Given the description of an element on the screen output the (x, y) to click on. 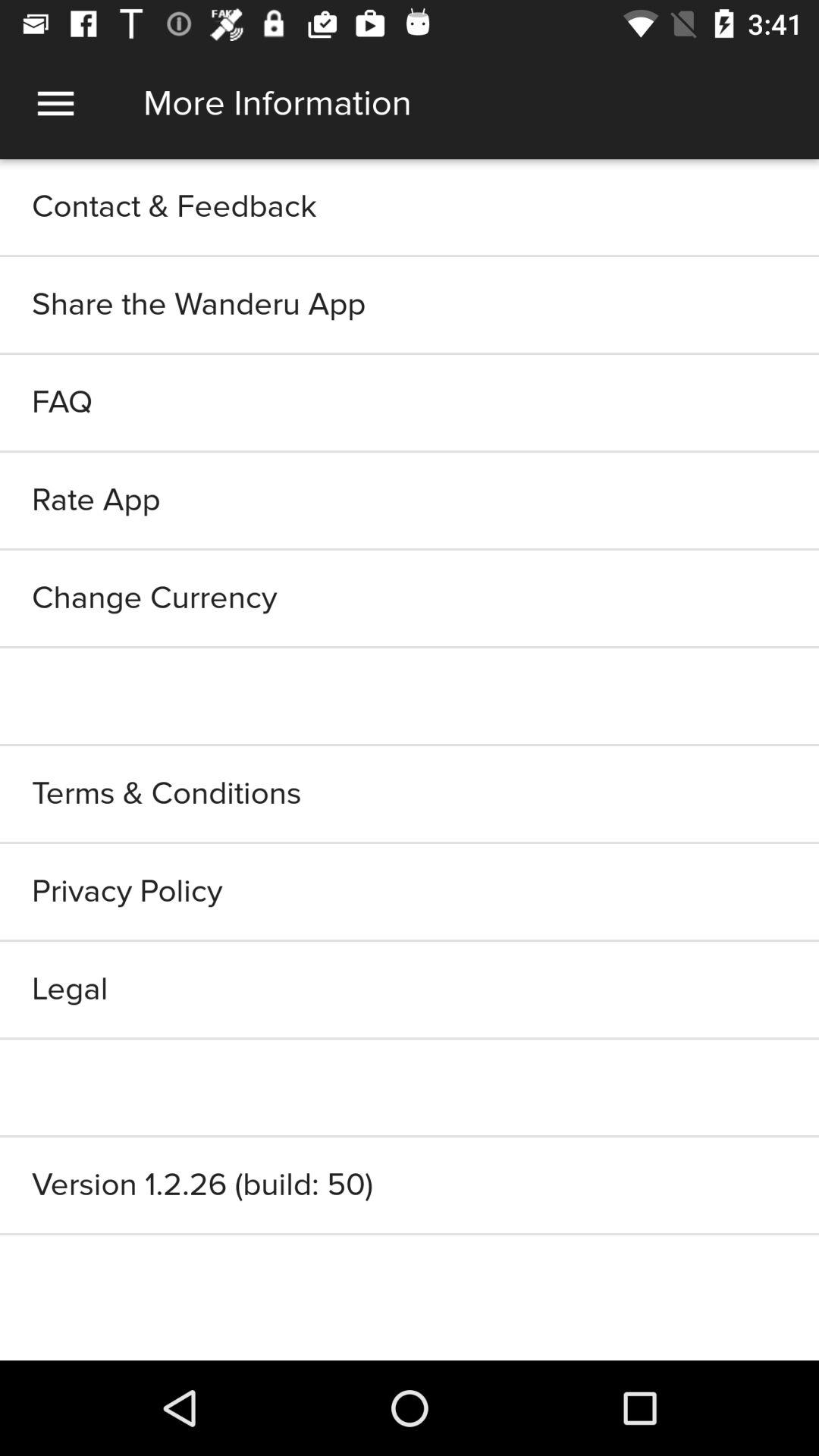
press the icon above privacy policy (409, 793)
